Given the description of an element on the screen output the (x, y) to click on. 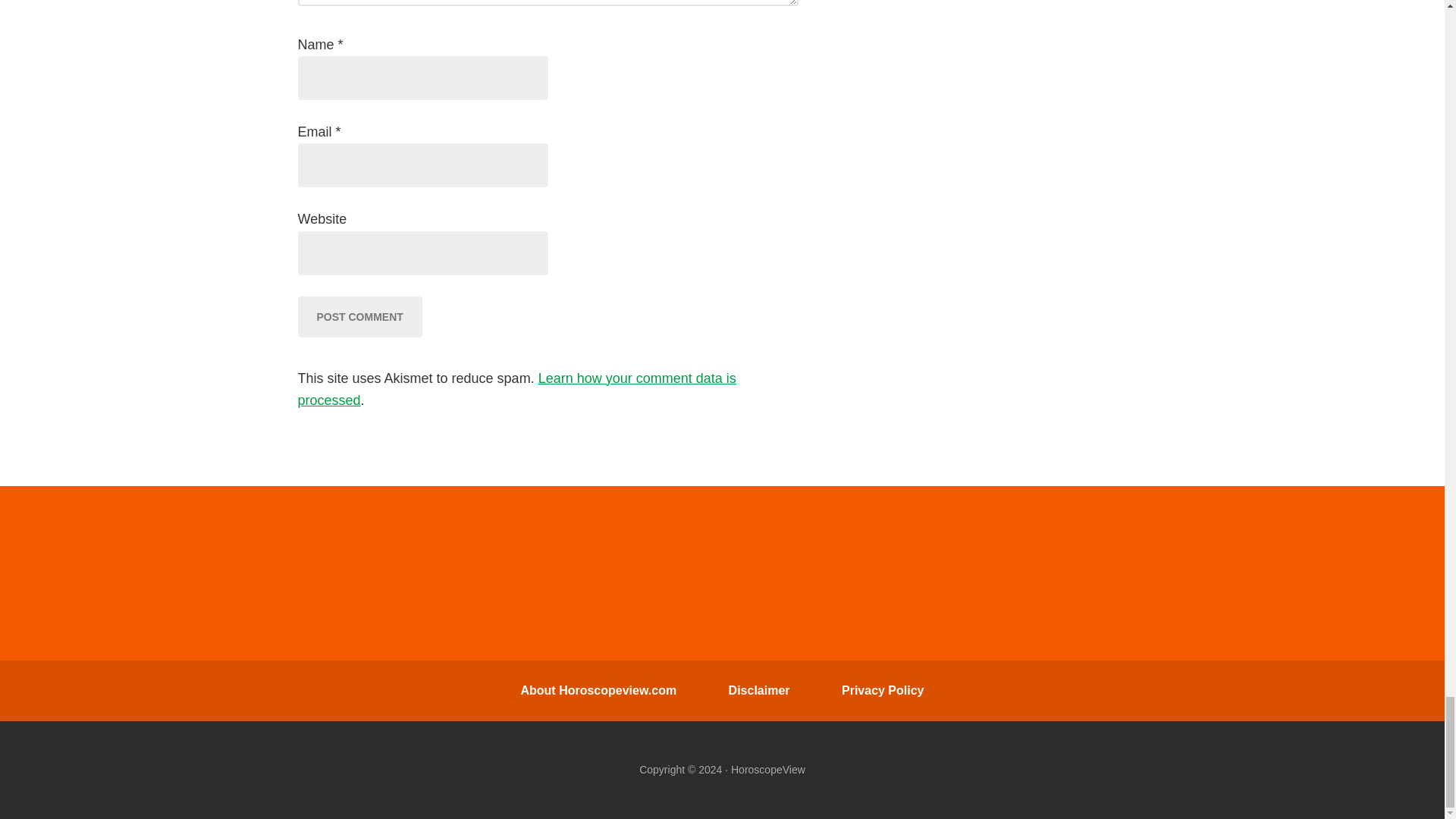
Learn how your comment data is processed (516, 389)
Post Comment (359, 316)
Post Comment (359, 316)
